Given the description of an element on the screen output the (x, y) to click on. 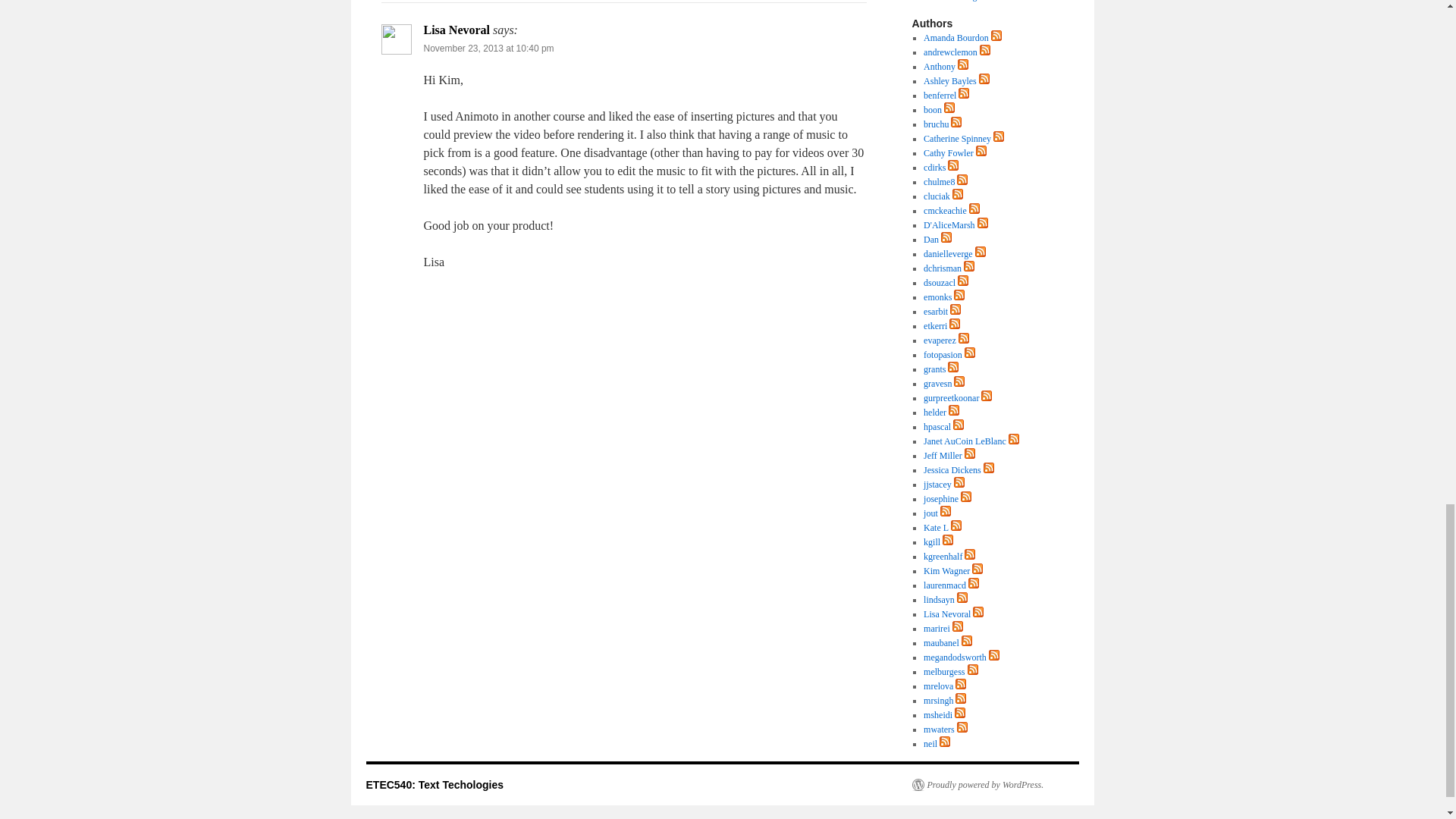
RSS feed (996, 37)
RSS feed (963, 66)
Posts by Amanda Bourdon (955, 37)
November 23, 2013 at 10:40 pm (488, 48)
RSS feed (984, 51)
Posts by andrewclemon (949, 51)
RSS feed (996, 35)
Posts by Anthony (939, 66)
RSS feed (984, 81)
Posts by Ashley Bayles (949, 81)
RSS feed (963, 63)
RSS feed (984, 50)
